Given the description of an element on the screen output the (x, y) to click on. 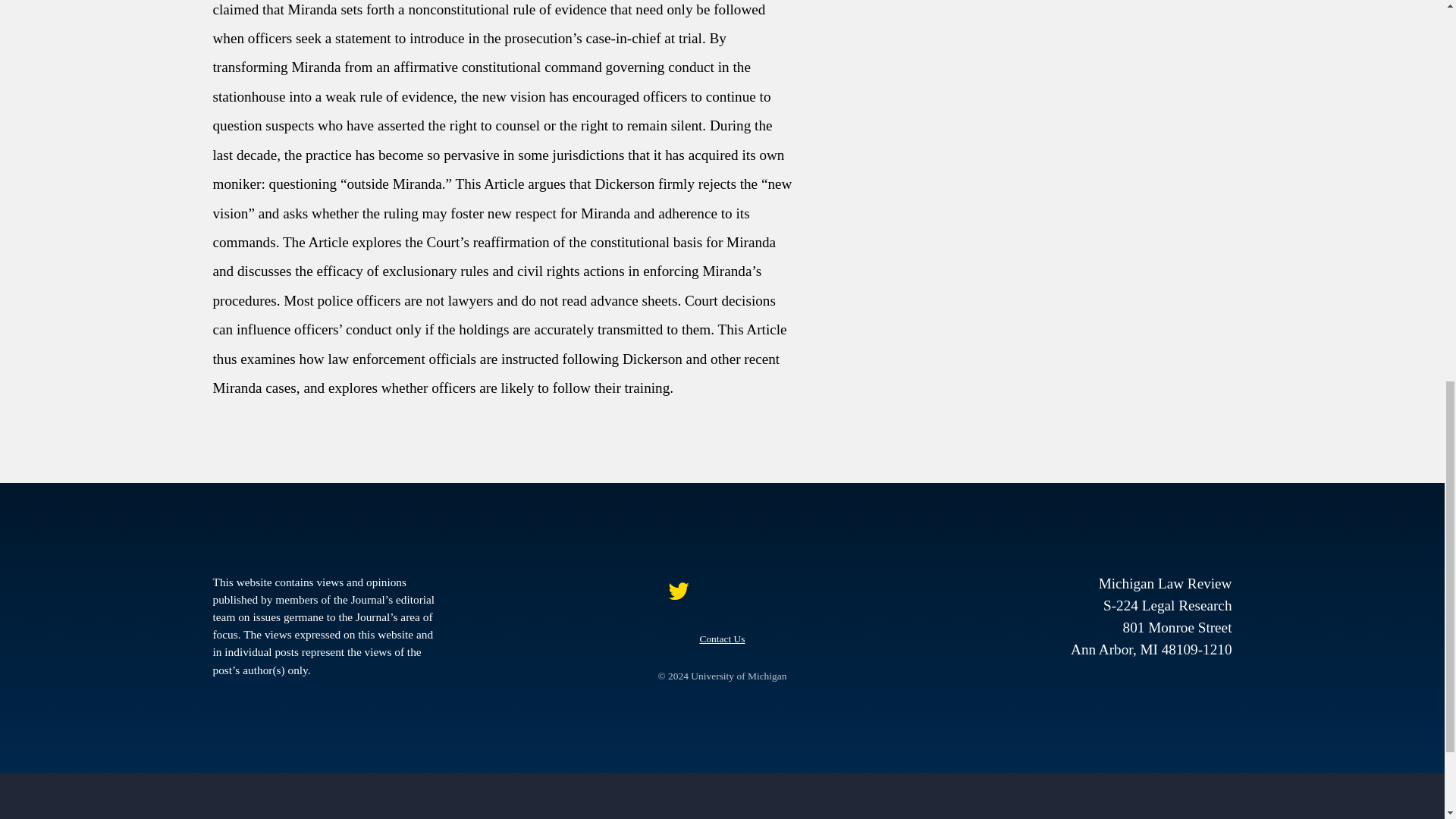
Contact Us (721, 638)
